Given the description of an element on the screen output the (x, y) to click on. 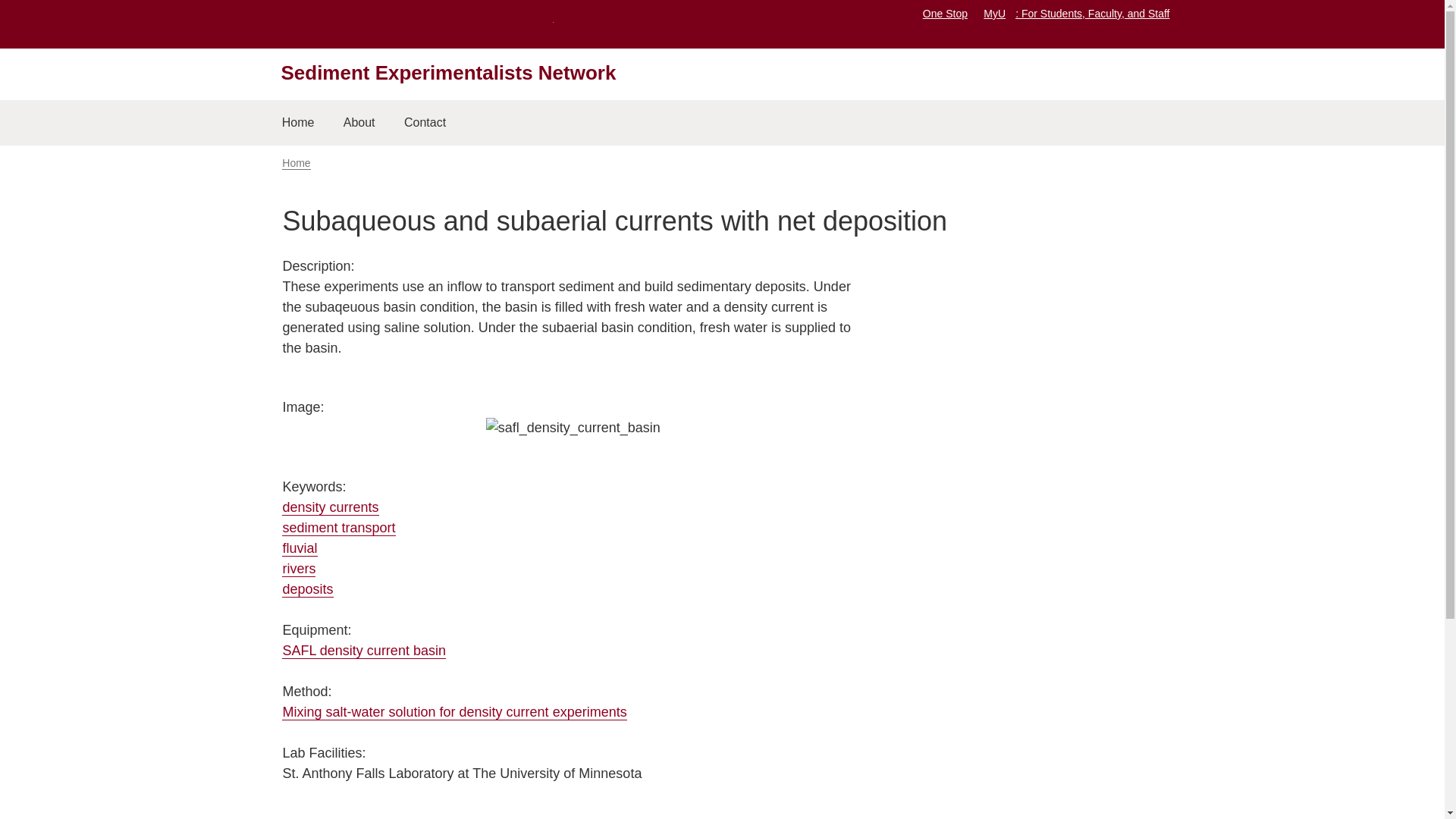
Sediment Experimentalists Network (448, 72)
Home (297, 122)
Mixing salt-water solution for density current experiments (454, 712)
sediment transport (338, 528)
fluvial (299, 548)
MyU: For Students, Faculty, and Staff (1076, 13)
deposits (307, 589)
About (359, 122)
Home (296, 163)
density currents (330, 507)
SAFL density current basin (363, 650)
One Stop (945, 13)
rivers (298, 569)
Contact (425, 122)
